Given the description of an element on the screen output the (x, y) to click on. 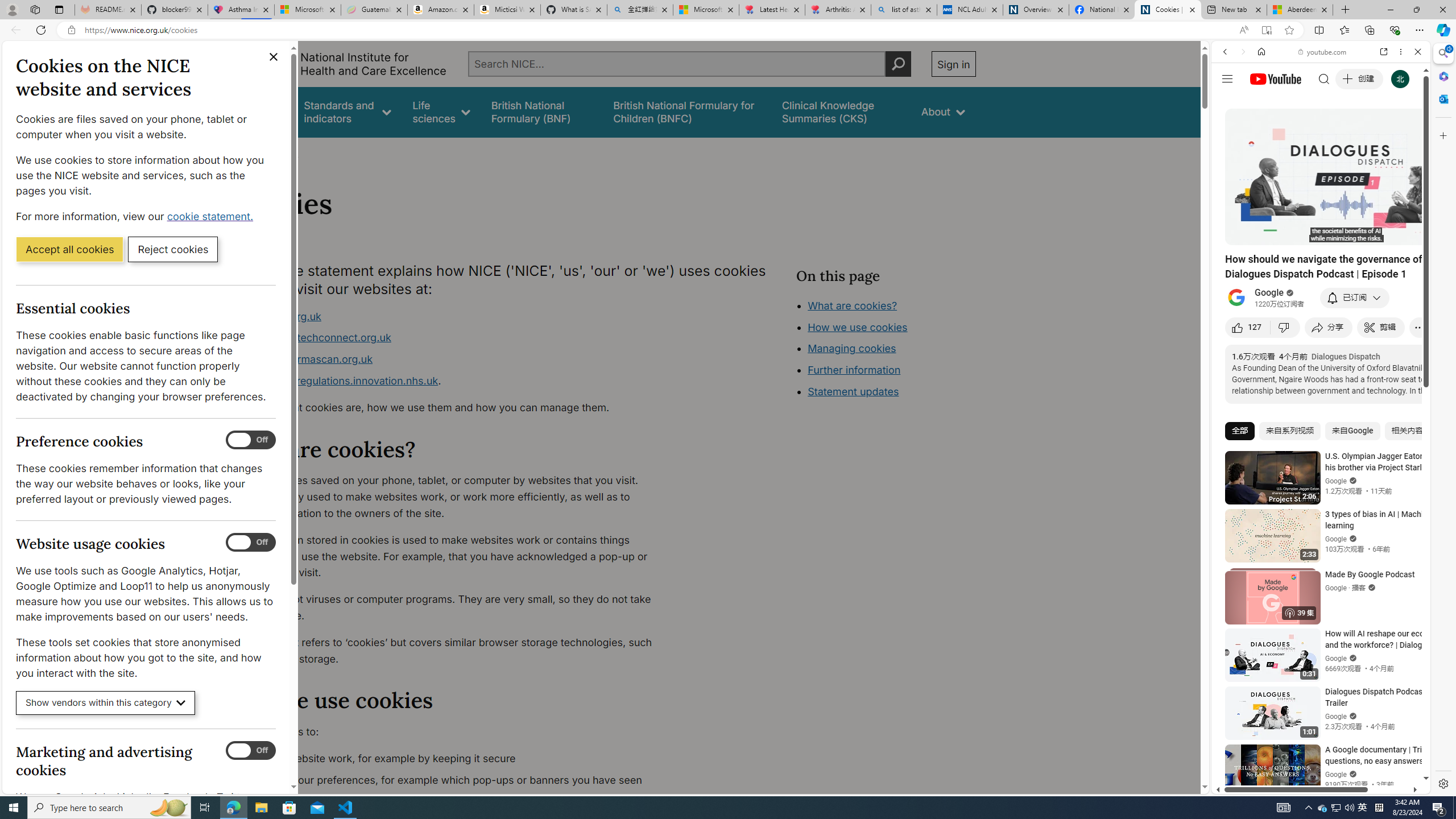
www.digitalregulations.innovation.nhs.uk (338, 380)
Show vendors within this category (105, 703)
Reject cookies (173, 248)
